Given the description of an element on the screen output the (x, y) to click on. 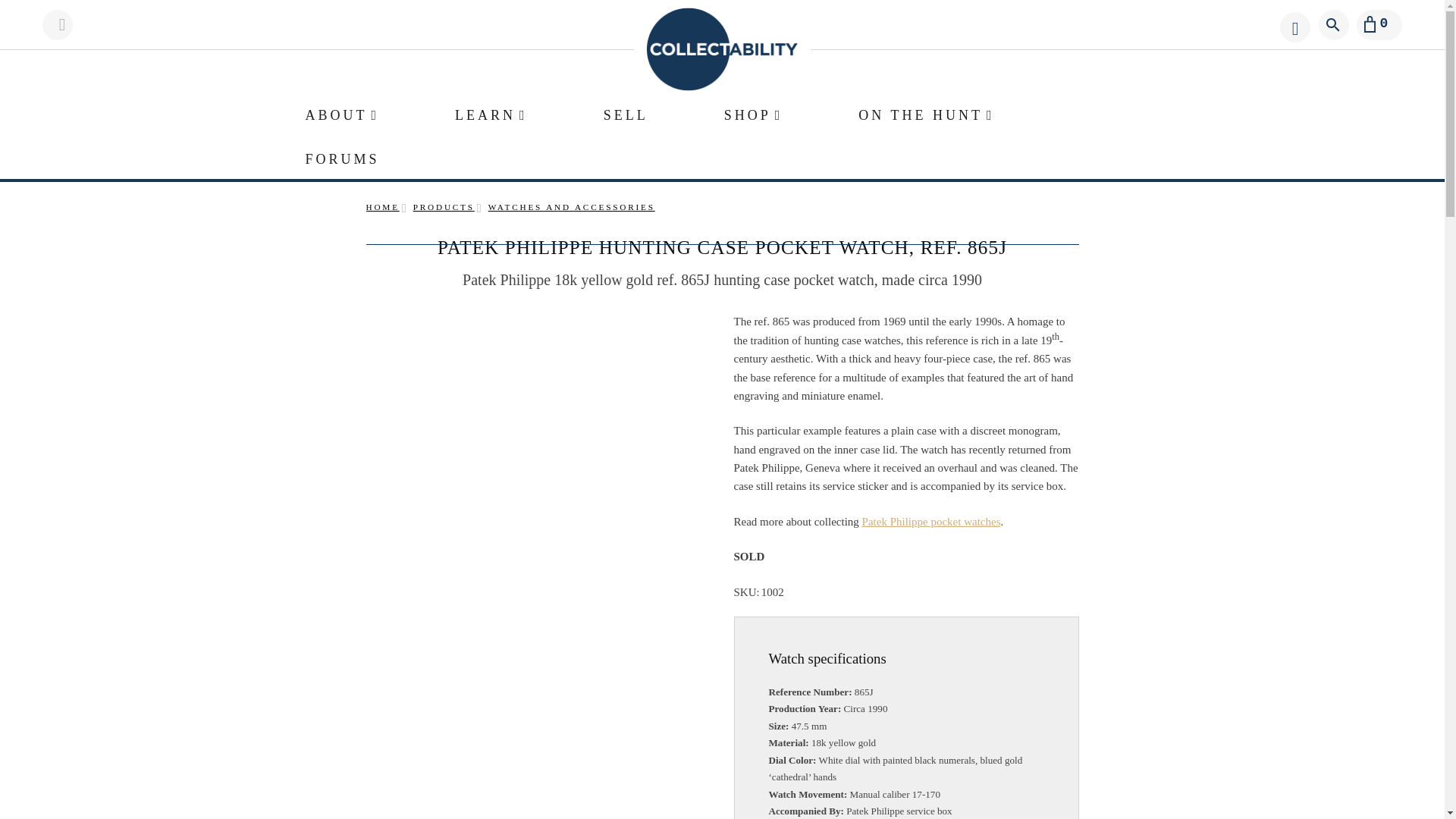
Patek Philippe pocket watches (931, 521)
ABOUT (341, 112)
0 (1379, 24)
SHOP (753, 112)
Home (381, 206)
LEARN (491, 112)
Products (443, 206)
WATCHES AND ACCESSORIES (571, 206)
SELL (625, 112)
Watches and Accessories (571, 206)
HOME (381, 206)
PRODUCTS (443, 206)
FORUMS (341, 157)
ON THE HUNT (926, 112)
